Given the description of an element on the screen output the (x, y) to click on. 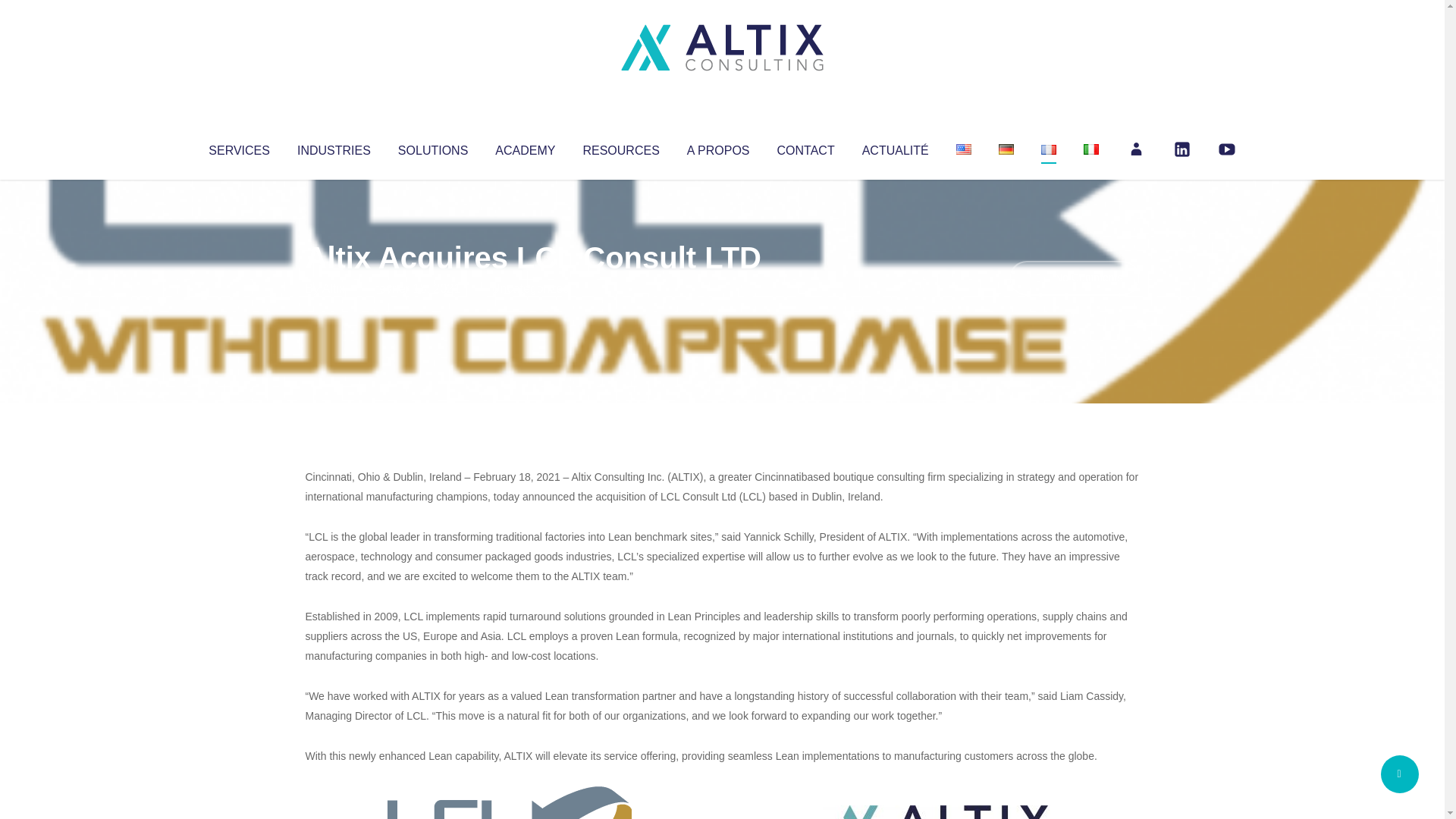
Uncategorized (530, 287)
No Comments (1073, 278)
INDUSTRIES (334, 146)
Altix (333, 287)
ACADEMY (524, 146)
A PROPOS (718, 146)
RESOURCES (620, 146)
SERVICES (238, 146)
SOLUTIONS (432, 146)
Articles par Altix (333, 287)
